Given the description of an element on the screen output the (x, y) to click on. 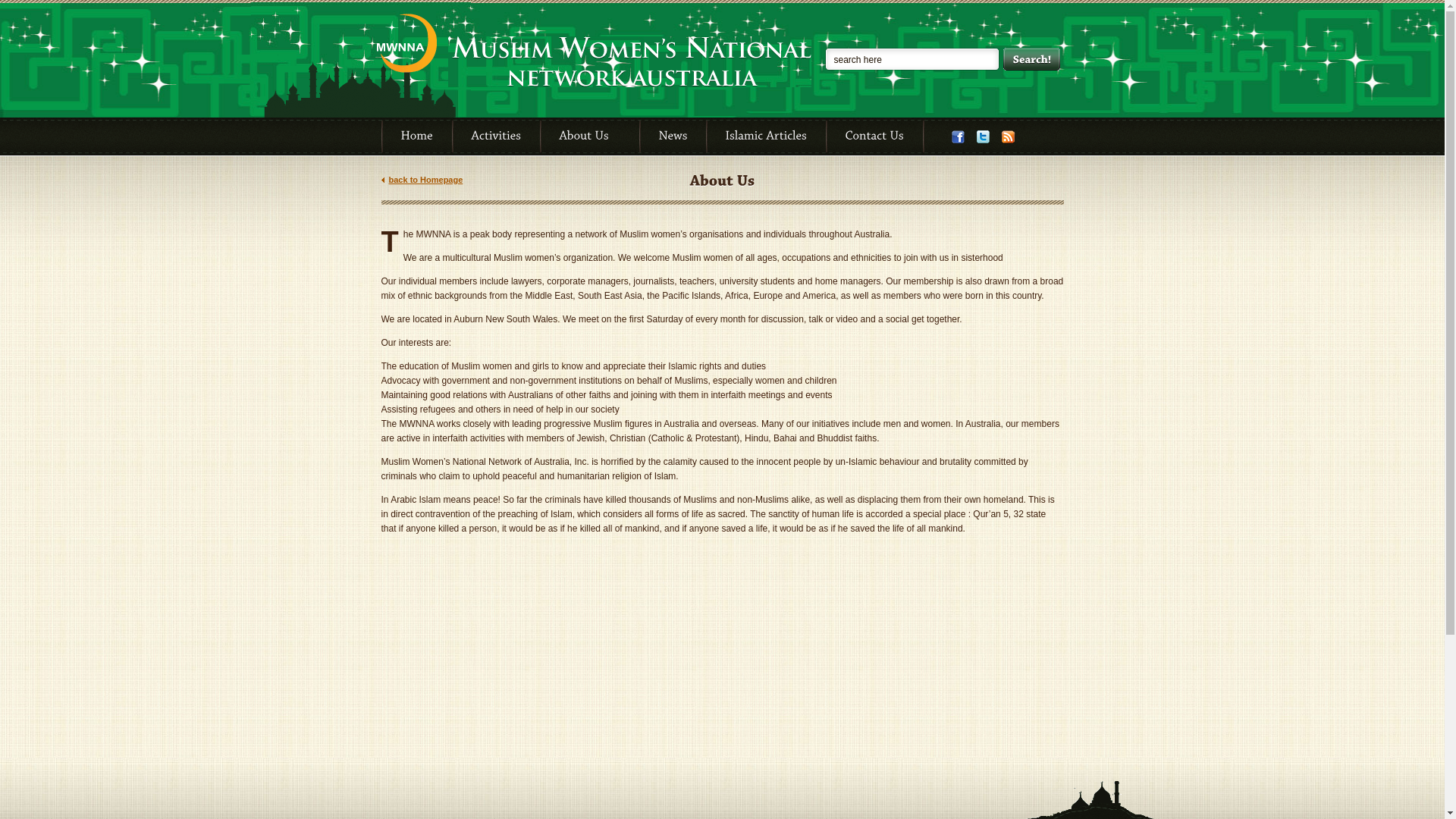
back to Homepage Element type: text (421, 179)
Search! Element type: text (1030, 58)
Home Element type: hover (416, 136)
